Given the description of an element on the screen output the (x, y) to click on. 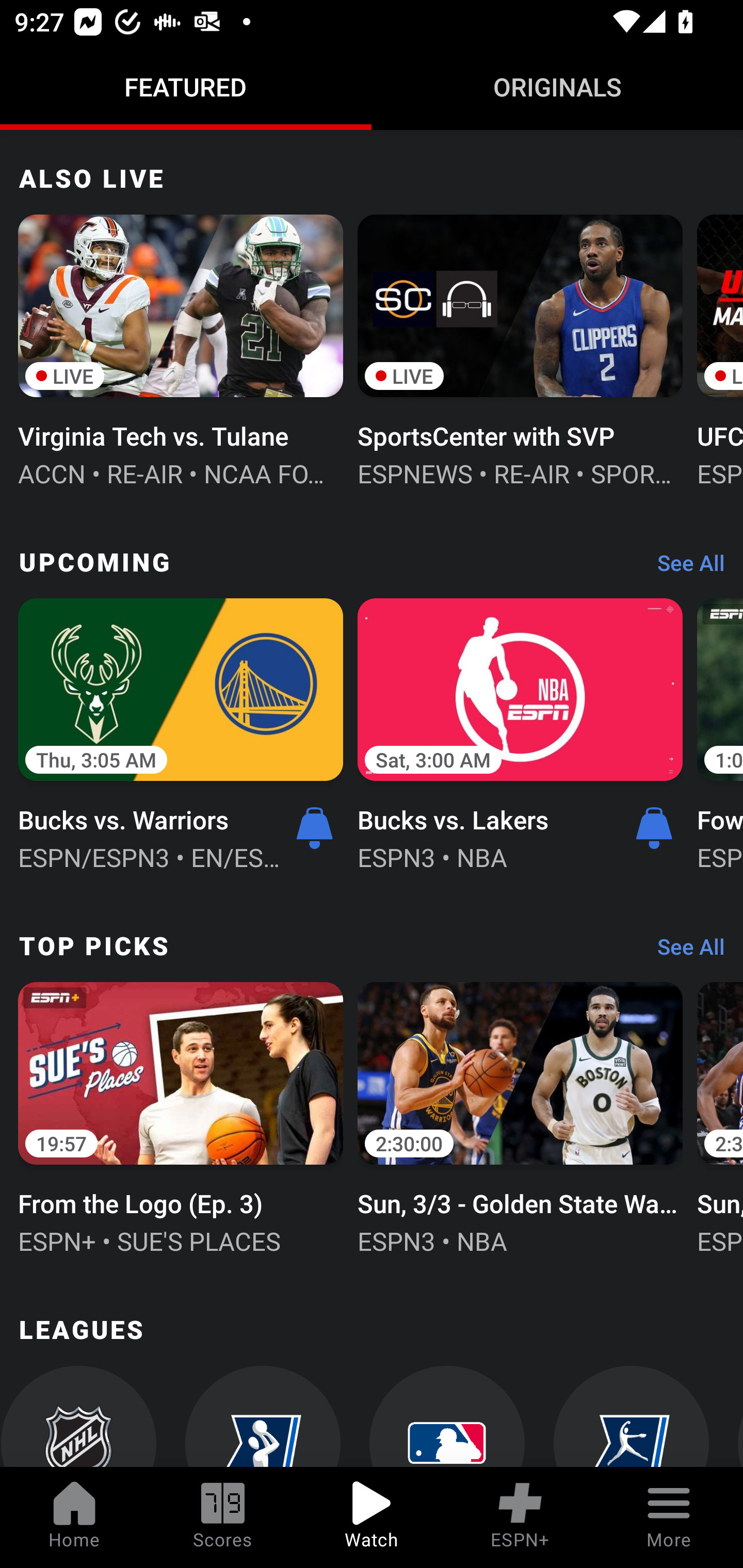
Originals ORIGINALS (557, 86)
See All (683, 567)
See All (683, 951)
19:57 From the Logo (Ep. 3) ESPN+ • SUE'S PLACES (180, 1116)
Home (74, 1517)
Scores (222, 1517)
ESPN+ (519, 1517)
More (668, 1517)
